Given the description of an element on the screen output the (x, y) to click on. 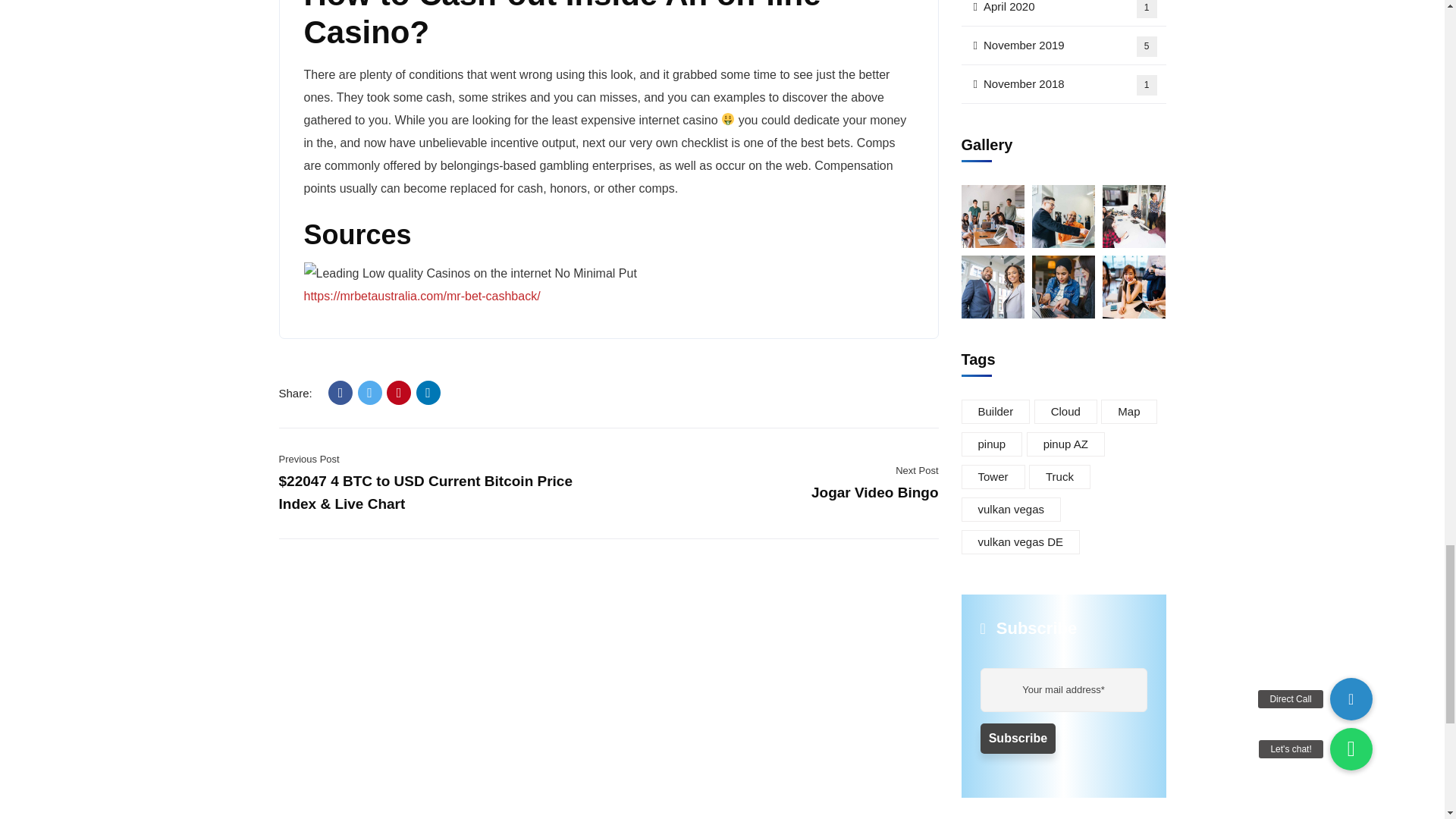
LinkedIn (428, 392)
Twitter (369, 392)
Facebook (340, 392)
Pinterest (398, 392)
Subscribe (1017, 738)
Jogar Video Bingo (874, 492)
